Given the description of an element on the screen output the (x, y) to click on. 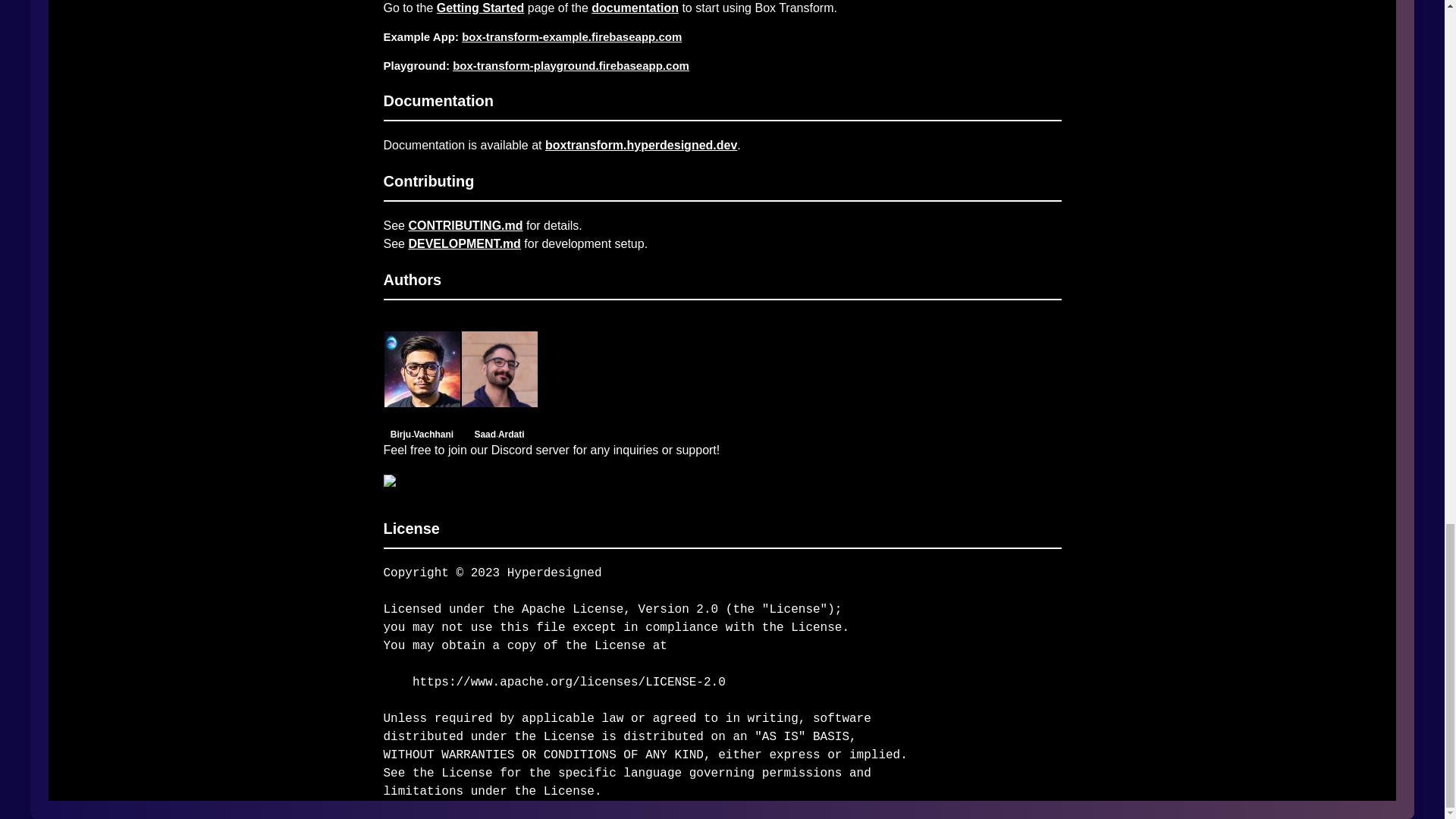
DEVELOPMENT.md (463, 243)
box-transform-playground.firebaseapp.com (570, 65)
CONTRIBUTING.md (464, 225)
box-transform-example.firebaseapp.com (571, 36)
Birju Vachhani (422, 399)
Saad Ardati (499, 399)
Getting Started (480, 7)
documentation (634, 7)
boxtransform.hyperdesigned.dev (640, 144)
